Given the description of an element on the screen output the (x, y) to click on. 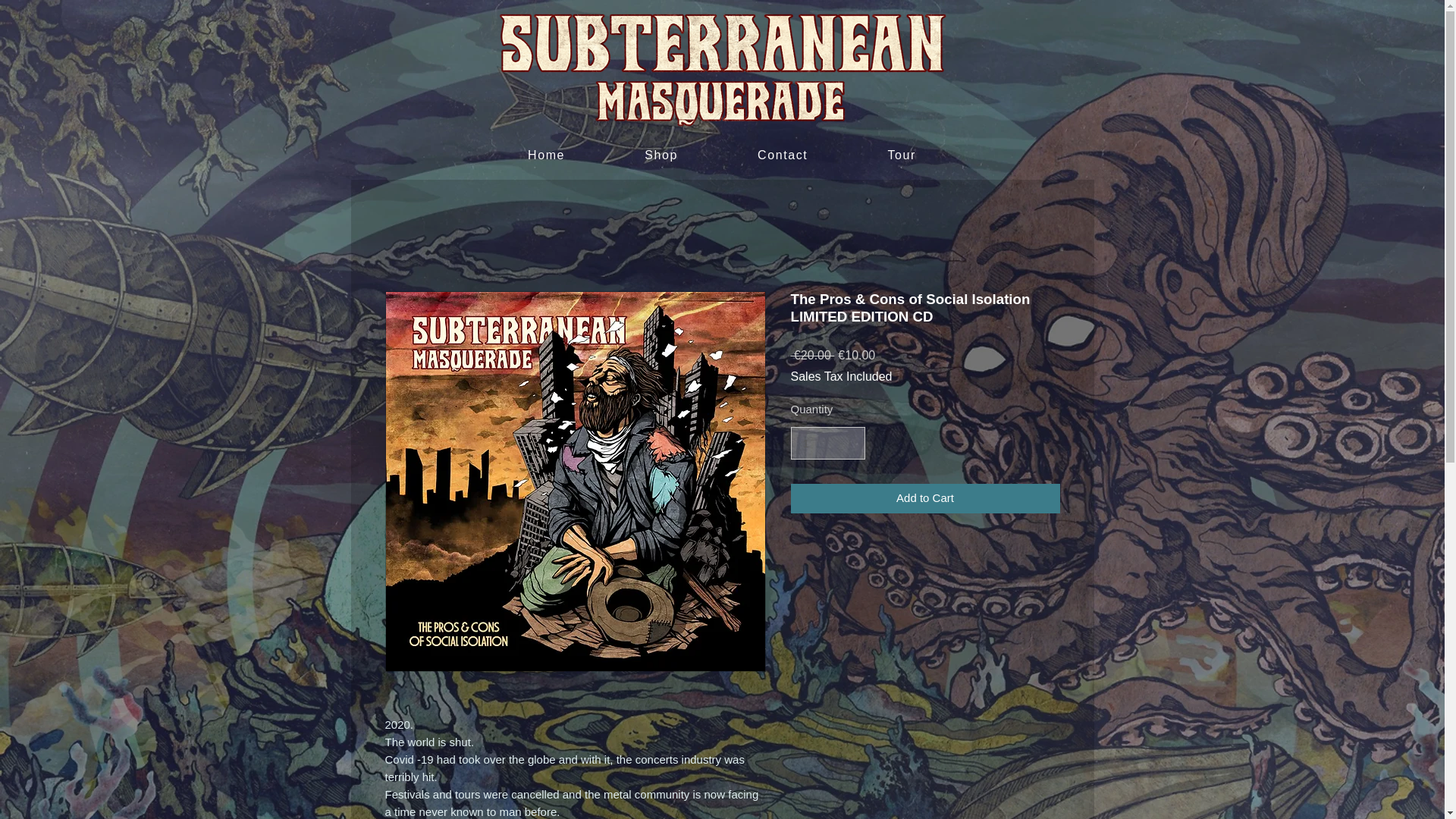
1 (827, 443)
Contact (782, 154)
Add to Cart (924, 498)
Shop (661, 154)
Tour (901, 154)
Home (547, 154)
